Given the description of an element on the screen output the (x, y) to click on. 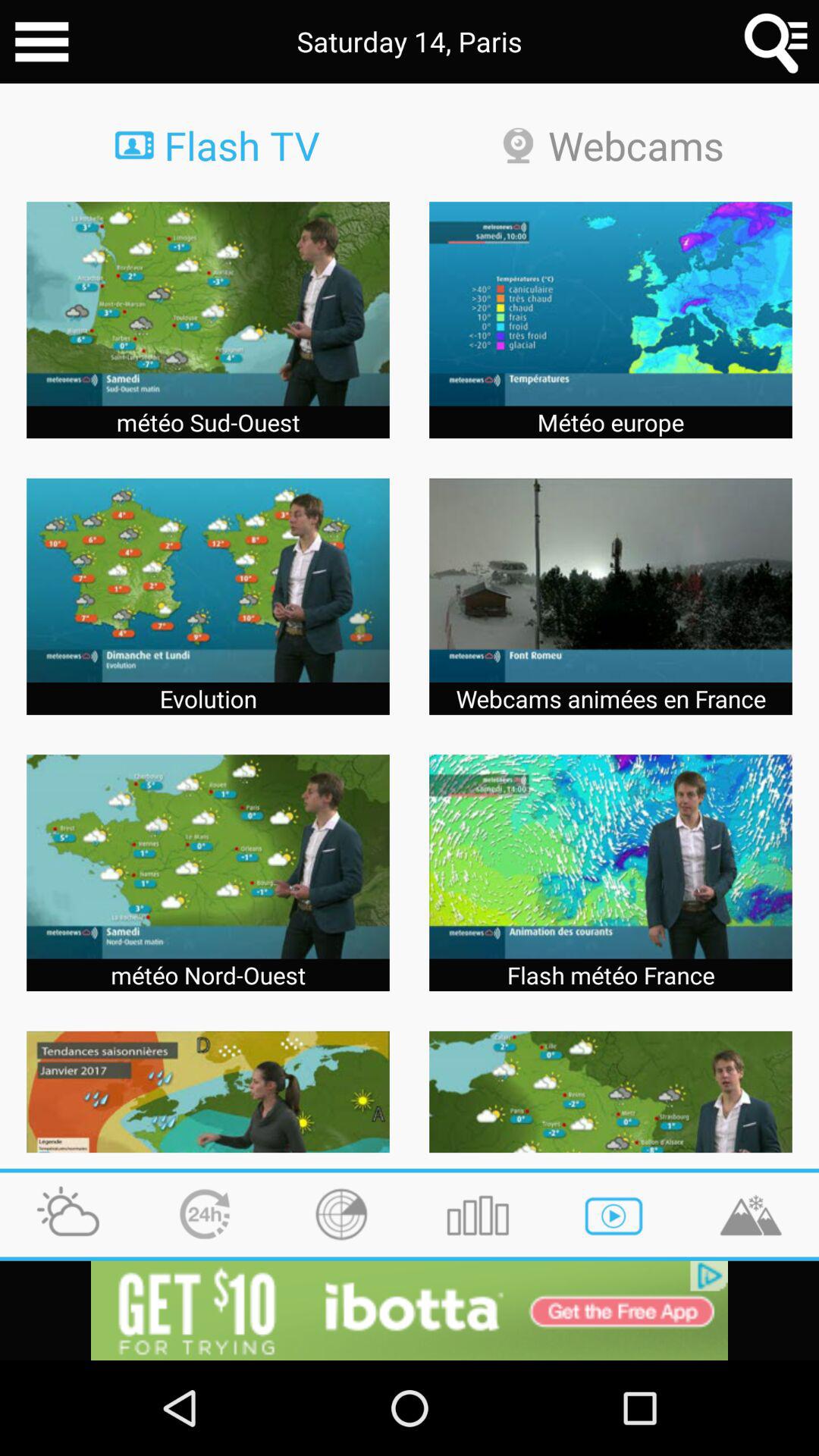
click to search icon (777, 41)
